Given the description of an element on the screen output the (x, y) to click on. 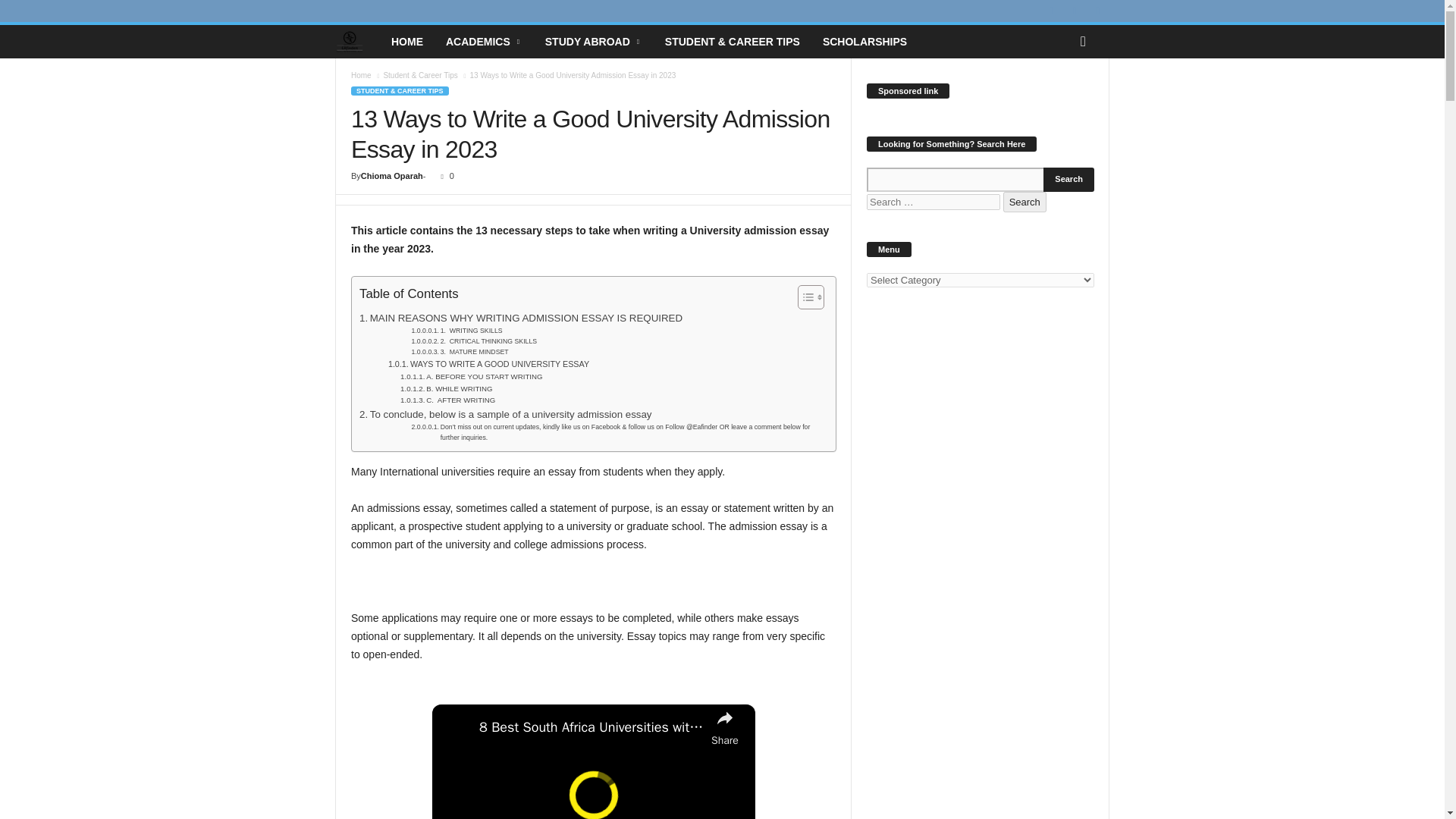
WAYS TO WRITE A GOOD UNIVERSITY ESSAY (488, 364)
HOME (406, 41)
Explore the best of East Africa (357, 41)
ACADEMICS (483, 41)
Search (1068, 179)
MAIN REASONS WHY WRITING ADMISSION ESSAY IS REQUIRED (520, 317)
STUDY ABROAD (593, 41)
A. BEFORE YOU START WRITING (471, 377)
SCHOLARSHIPS (864, 41)
B. WHILE WRITING (446, 388)
